Given the description of an element on the screen output the (x, y) to click on. 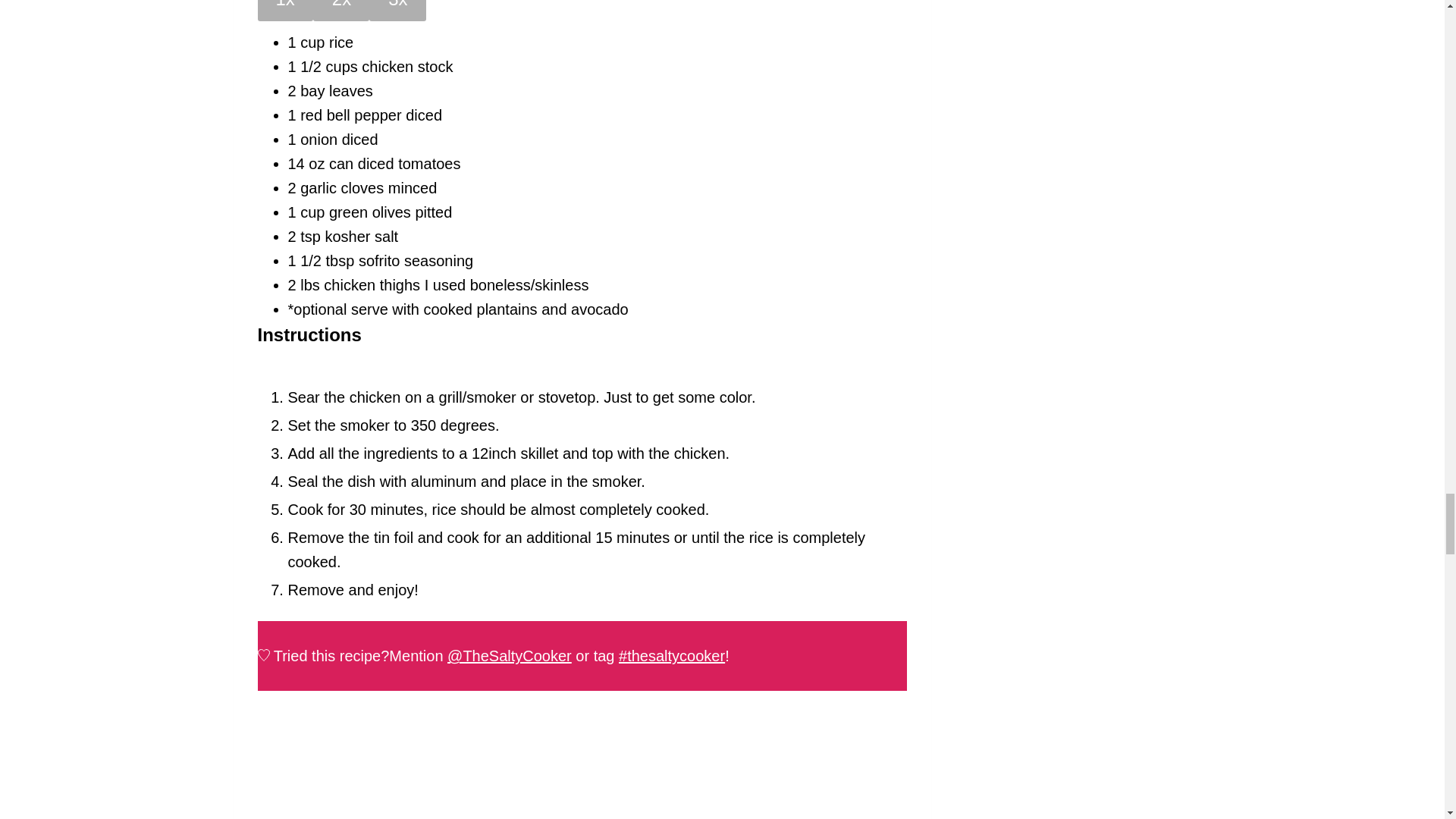
2x (341, 11)
1x (285, 11)
3x (397, 11)
